Given the description of an element on the screen output the (x, y) to click on. 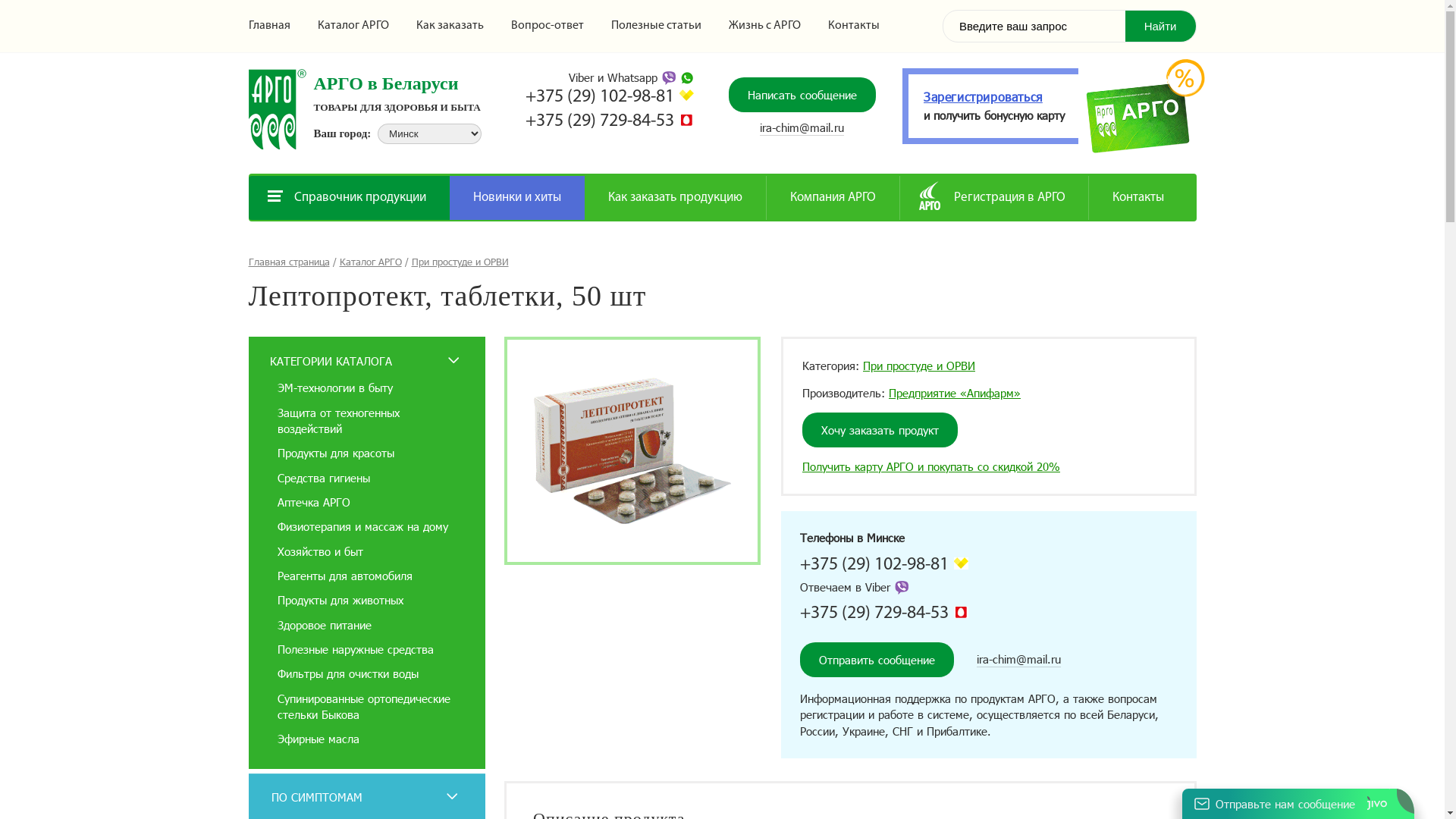
+375 (29) 102-98-81 Element type: text (599, 96)
+375 (29) 102-98-81 Element type: text (874, 564)
ira-chim@mail.ru Element type: text (1018, 659)
ira-chim@mail.ru Element type: text (801, 127)
+375 (29) 729-84-53 Element type: text (599, 121)
+375 (29) 729-84-53 Element type: text (874, 613)
